Given the description of an element on the screen output the (x, y) to click on. 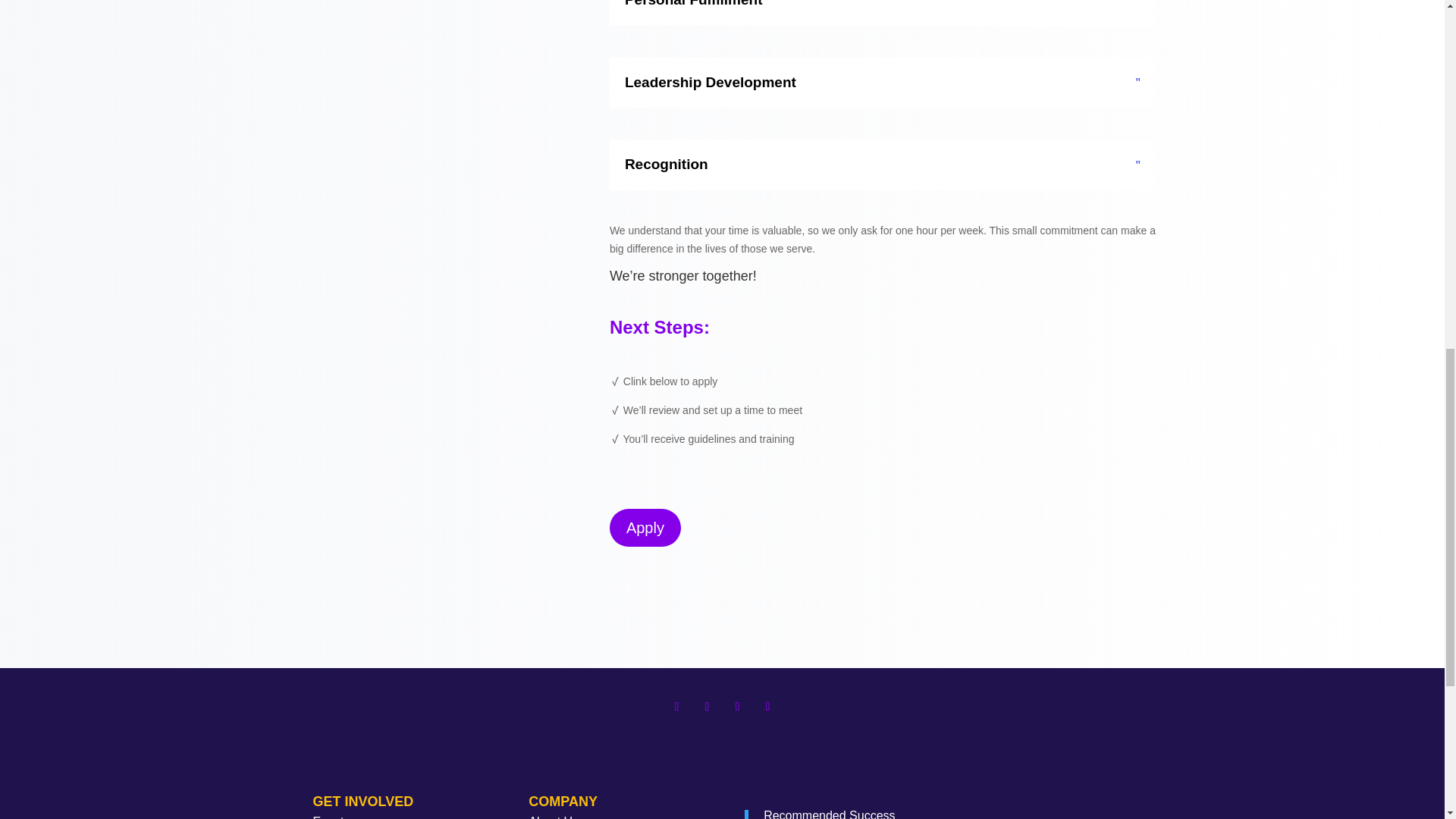
Follow on LinkedIn (766, 706)
Events  (332, 816)
Apply (645, 527)
Follow on Twitter (706, 706)
Follow on Facebook (675, 706)
Recommended Success Stack (828, 814)
About Us (553, 816)
Follow on Instagram (737, 706)
